Given the description of an element on the screen output the (x, y) to click on. 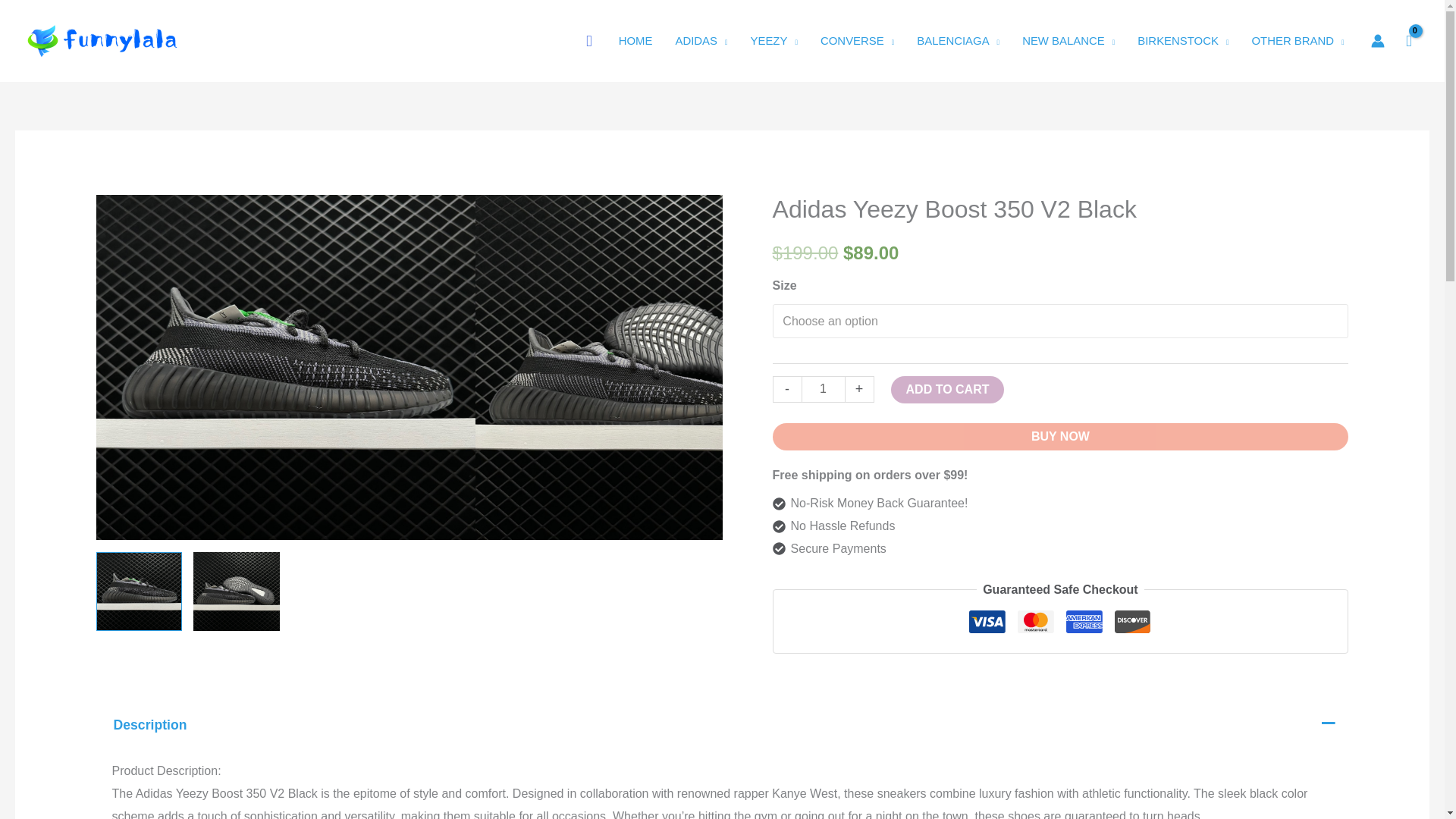
HOME (635, 40)
ADIDAS (700, 40)
1 (823, 388)
